Given the description of an element on the screen output the (x, y) to click on. 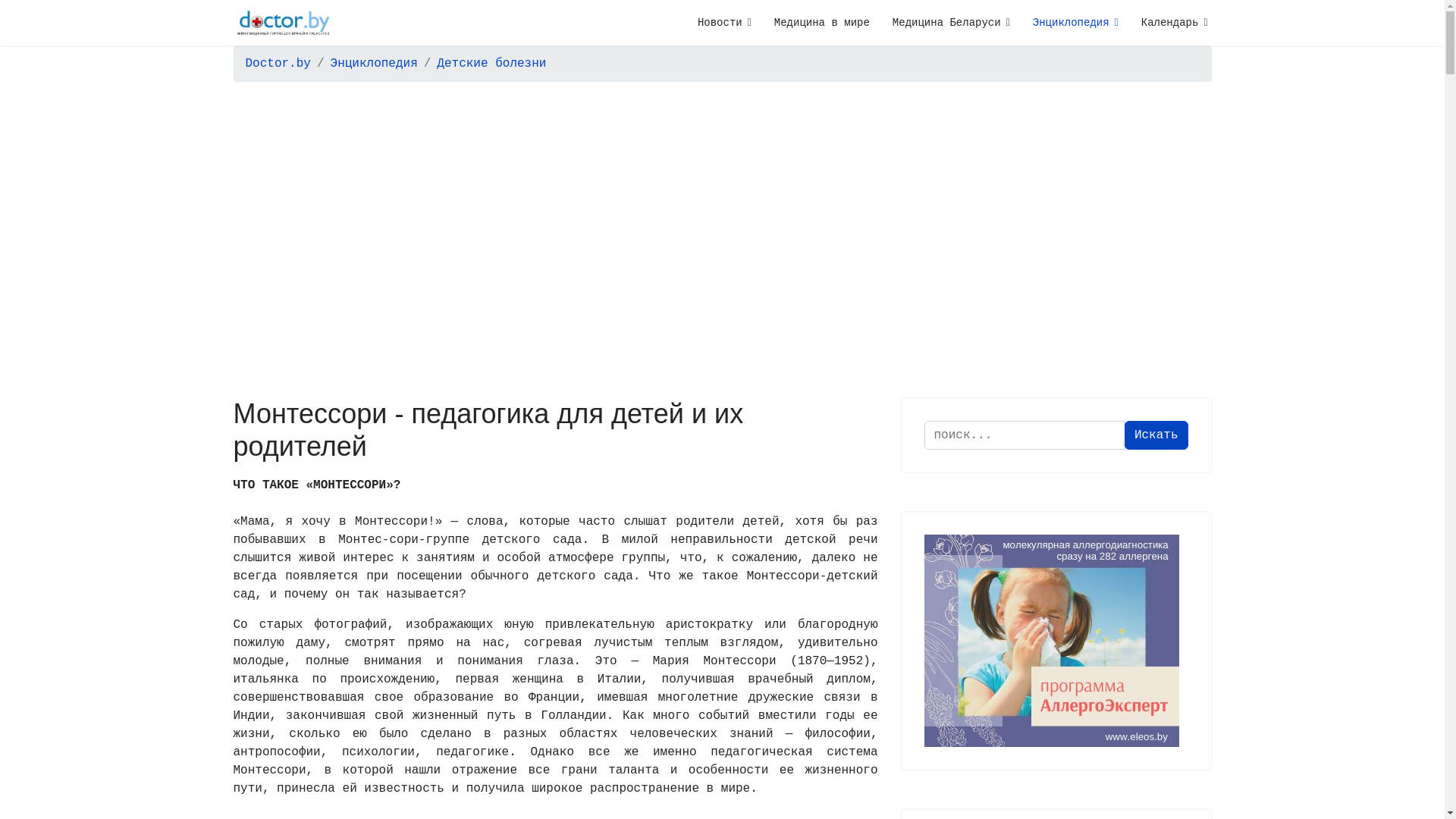
Advertisement Element type: hover (721, 207)
Doctor.by Element type: text (277, 63)
